Given the description of an element on the screen output the (x, y) to click on. 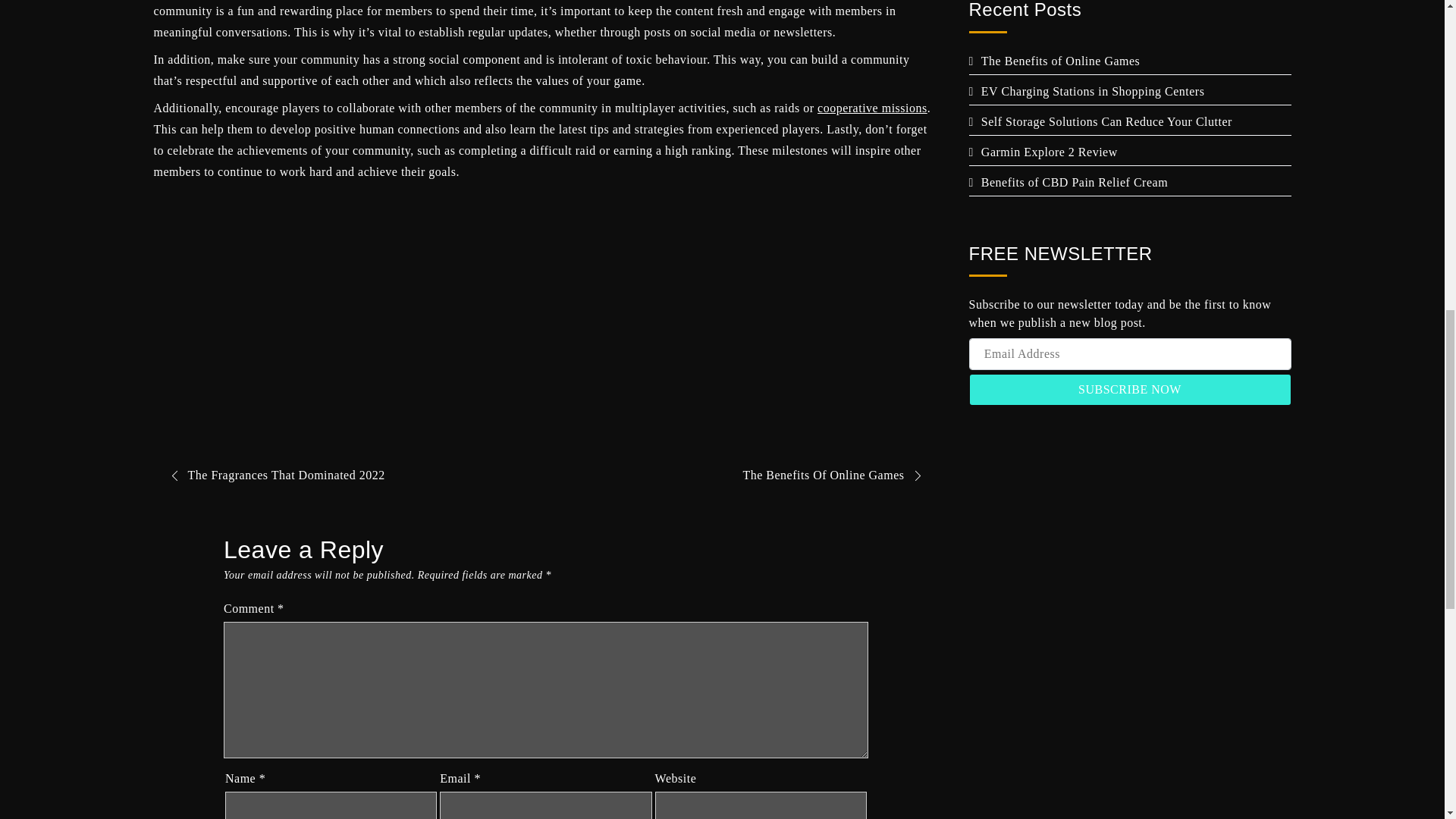
Garmin Explore 2 Review (1043, 151)
The Benefits of Online Games (1054, 60)
Benefits of CBD Pain Relief Cream (1069, 182)
cooperative missions (871, 107)
The Benefits Of Online Games (836, 474)
SUBSCRIBE NOW (1130, 389)
The Fragrances That Dominated 2022 (272, 474)
Self Storage Solutions Can Reduce Your Clutter (1100, 121)
EV Charging Stations in Shopping Centers (1087, 91)
SUBSCRIBE NOW (1130, 389)
